Given the description of an element on the screen output the (x, y) to click on. 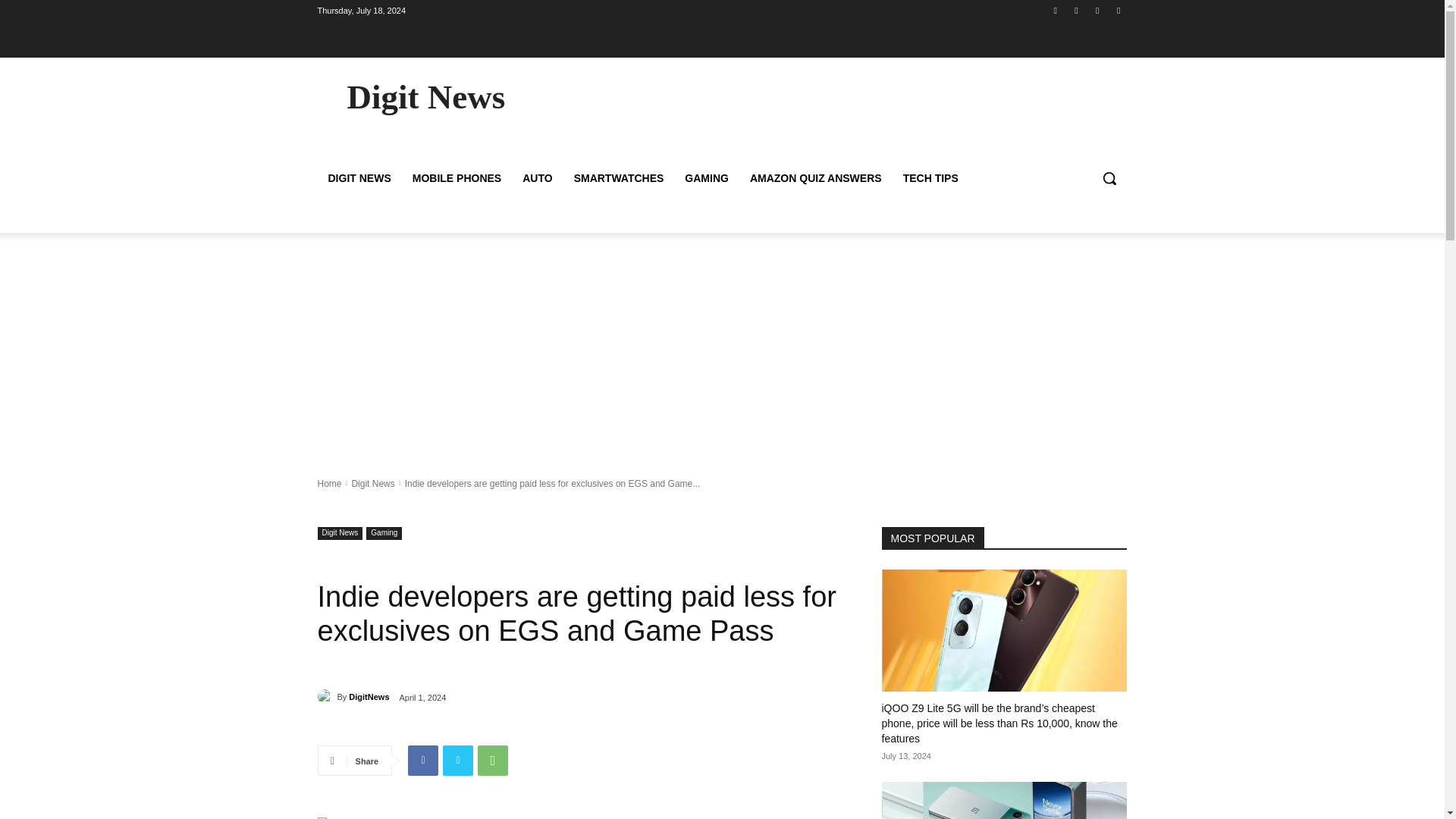
View all posts in Digit News (372, 482)
Youtube (1117, 9)
Digit News (339, 532)
GAMING (706, 176)
DIGIT NEWS (359, 176)
DigitNews (368, 696)
Digit News (372, 482)
AMAZON QUIZ ANSWERS (815, 176)
Facebook (422, 760)
SMARTWATCHES (619, 176)
TECH TIPS (930, 176)
Instagram (1075, 9)
Twitter (1097, 9)
Twitter (457, 760)
